Given the description of an element on the screen output the (x, y) to click on. 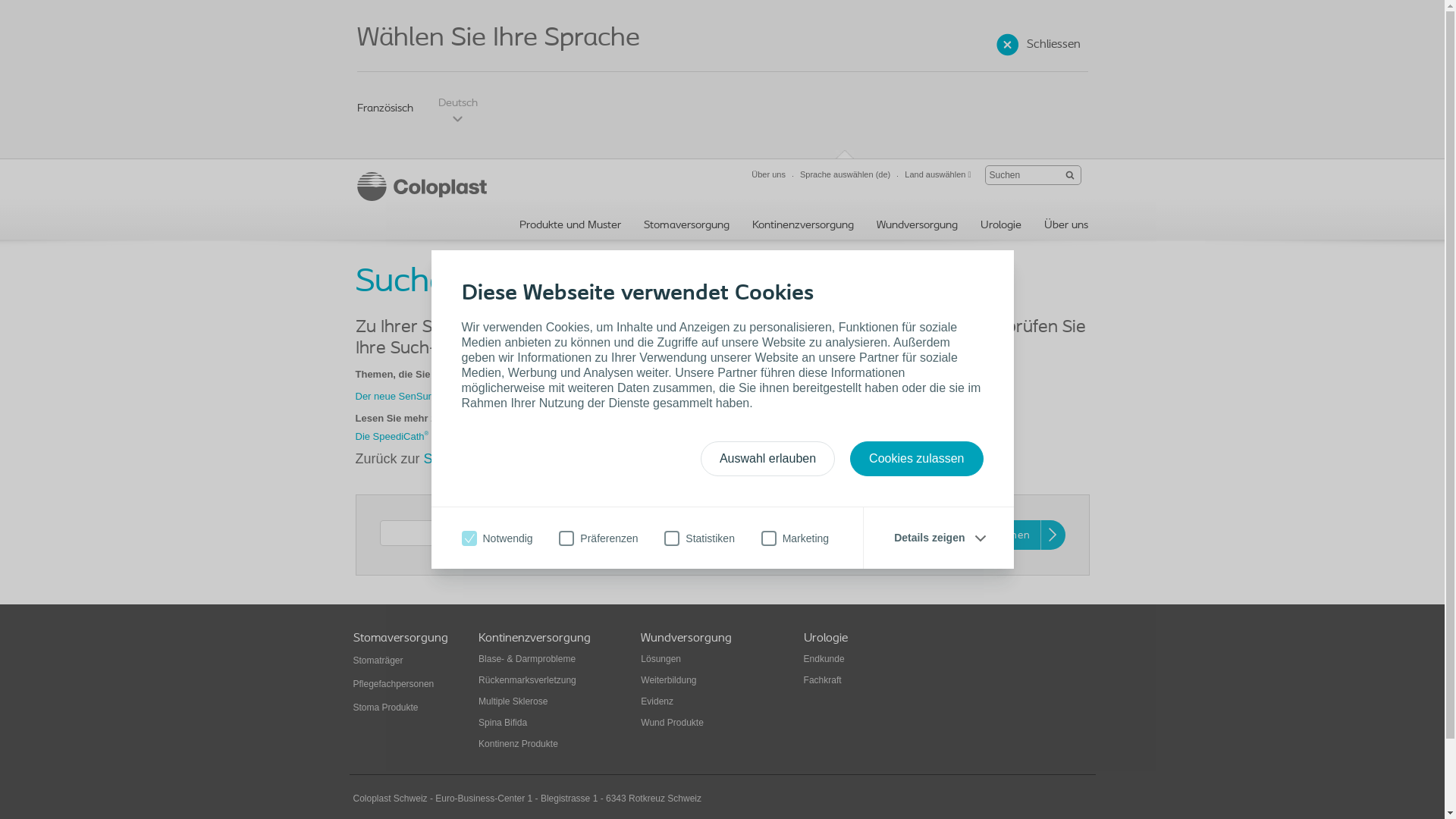
Pflegefachpersonen Element type: text (393, 683)
Auswahl erlauben Element type: text (767, 458)
Wundversorgung Element type: text (916, 226)
Wund Produkte Element type: text (671, 722)
Endkunde Element type: text (823, 658)
Produkte und Muster Element type: text (569, 226)
Weiterbildung Element type: text (668, 679)
Details zeigen Element type: text (938, 537)
Multiple Sklerose Element type: text (512, 701)
Deutsch Element type: text (457, 109)
Blase- & Darmprobleme Element type: text (526, 658)
Kontinenz Produkte Element type: text (518, 743)
Spina Bifida Element type: text (502, 722)
Stomaversorgung Element type: text (685, 226)
Schliessen Element type: text (1040, 44)
Cookies zulassen Element type: text (916, 458)
Stoma Produkte Element type: text (385, 707)
Startseite Element type: text (452, 458)
Fachkraft Element type: text (822, 679)
Urologie Element type: text (999, 226)
Suchen Element type: text (1021, 535)
Kontinenzversorgung Element type: text (802, 226)
Evidenz Element type: text (656, 701)
